Given the description of an element on the screen output the (x, y) to click on. 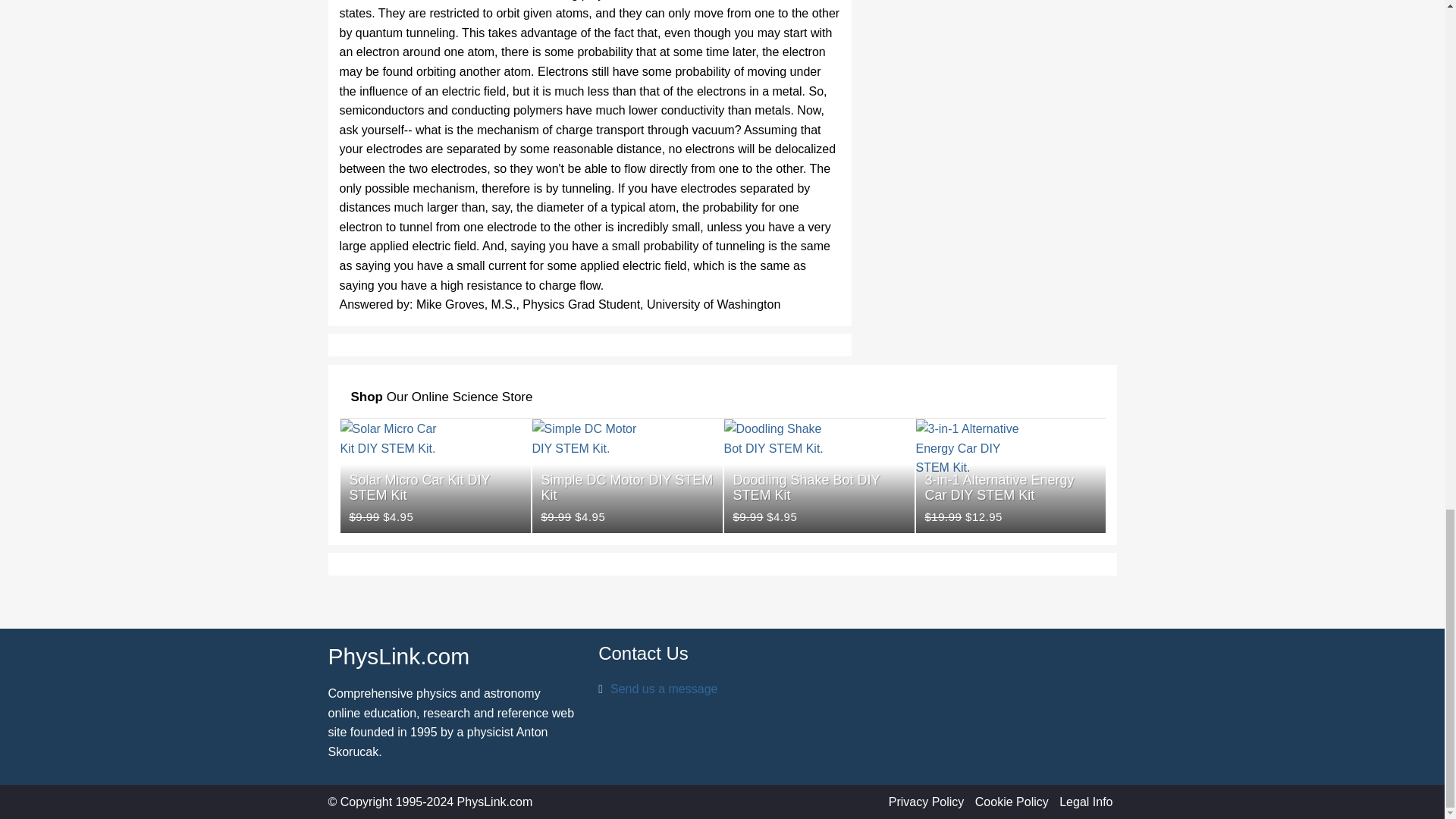
Doodling Shake Bot DIY STEM Kit. (780, 476)
Solar Micro Car Kit DIY STEM Kit. (395, 476)
3-in-1 Alternative Energy Car DIY STEM Kit. (972, 476)
Simple DC Motor DIY STEM Kit. (589, 476)
